Given the description of an element on the screen output the (x, y) to click on. 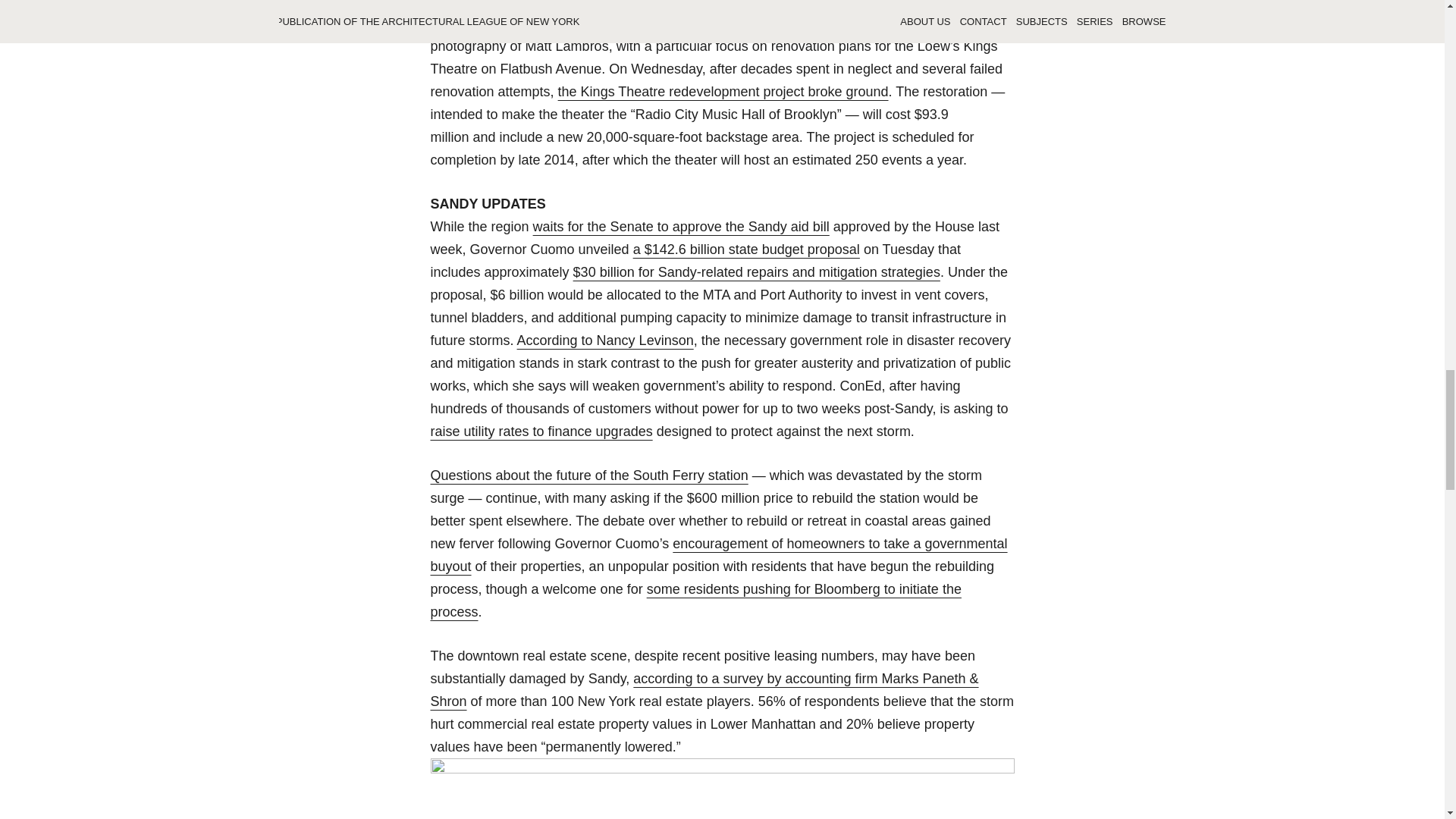
Grand Central Terminal  (722, 788)
